Given the description of an element on the screen output the (x, y) to click on. 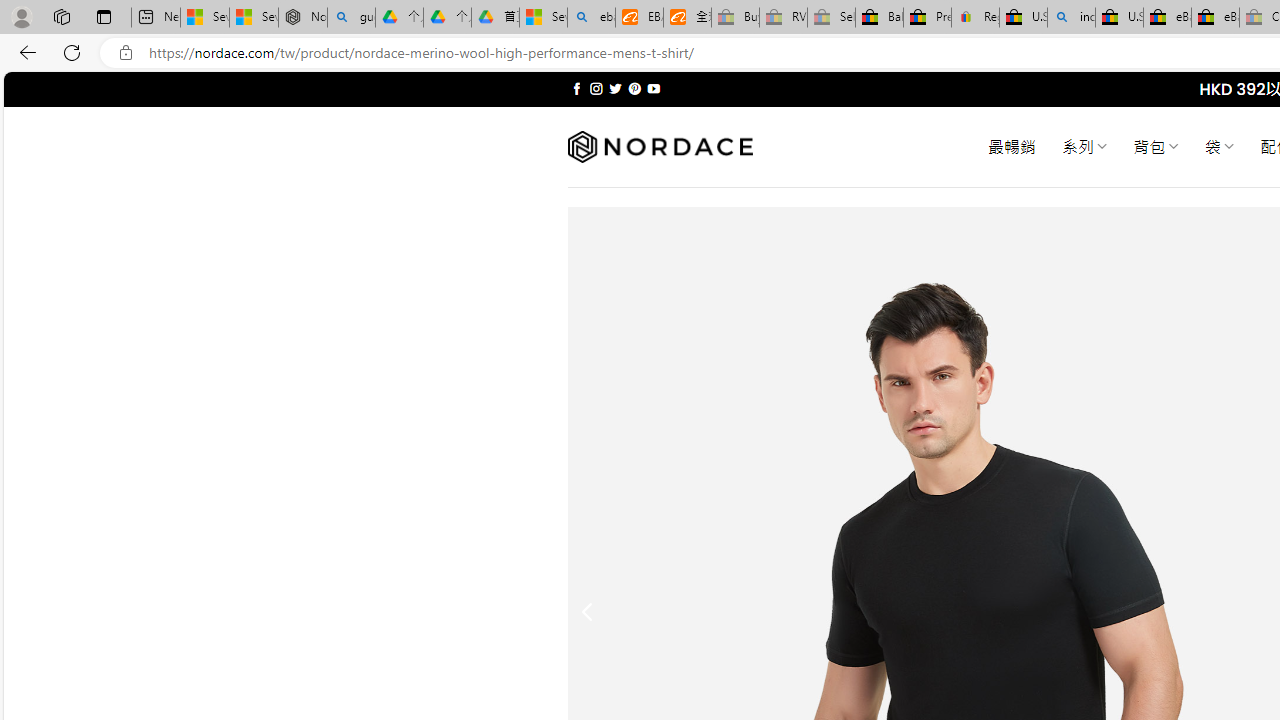
Buy Auto Parts & Accessories | eBay - Sleeping (735, 17)
Follow on Twitter (615, 88)
Baby Keepsakes & Announcements for sale | eBay (879, 17)
Sell worldwide with eBay - Sleeping (831, 17)
including - Search (1071, 17)
